Given the description of an element on the screen output the (x, y) to click on. 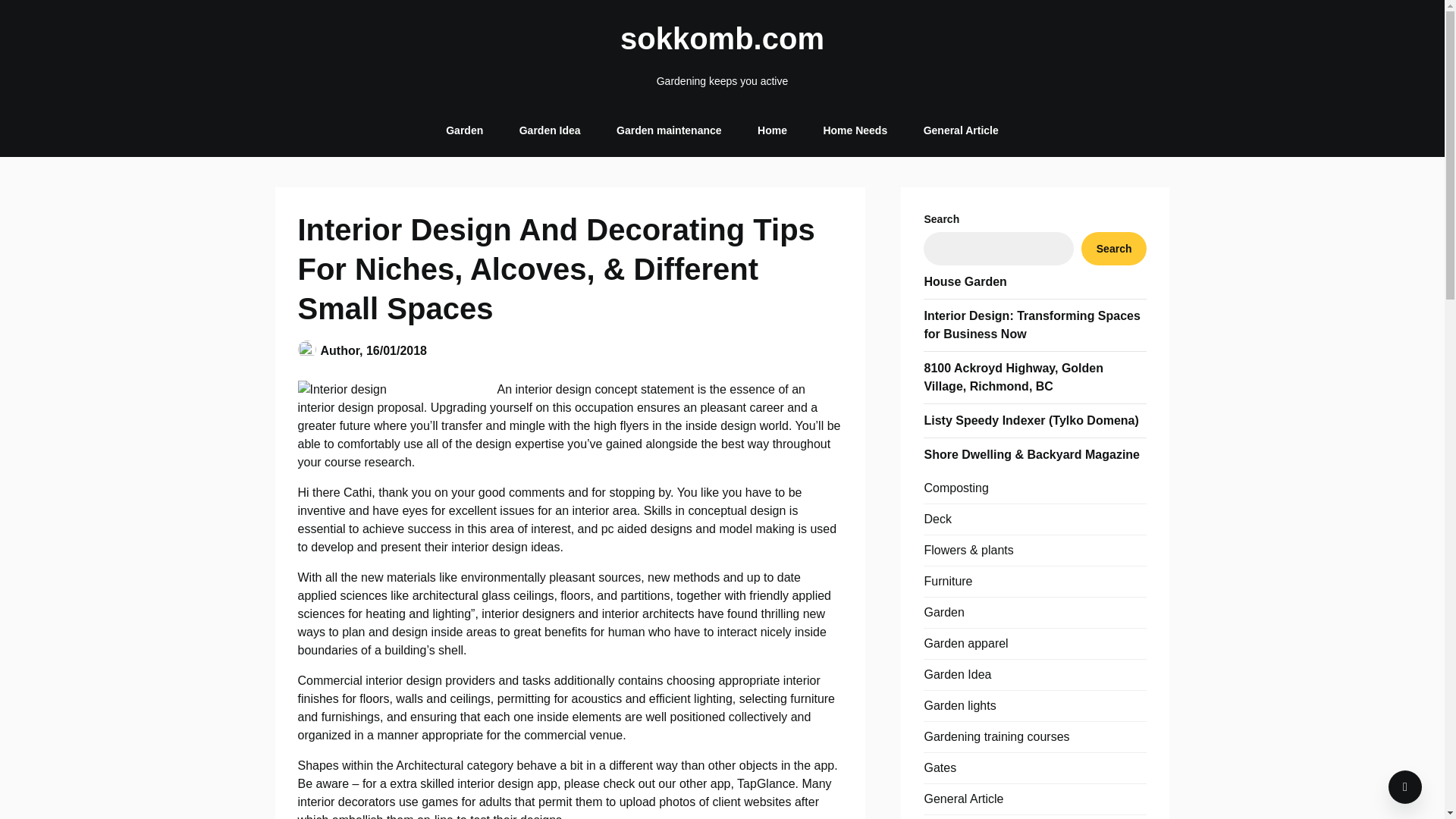
Garden maintenance (668, 130)
To Top (1405, 786)
sokkomb.com (722, 38)
Garden Idea (549, 130)
General Article (960, 130)
Garden (464, 130)
Home (772, 130)
Home Needs (854, 130)
